Given the description of an element on the screen output the (x, y) to click on. 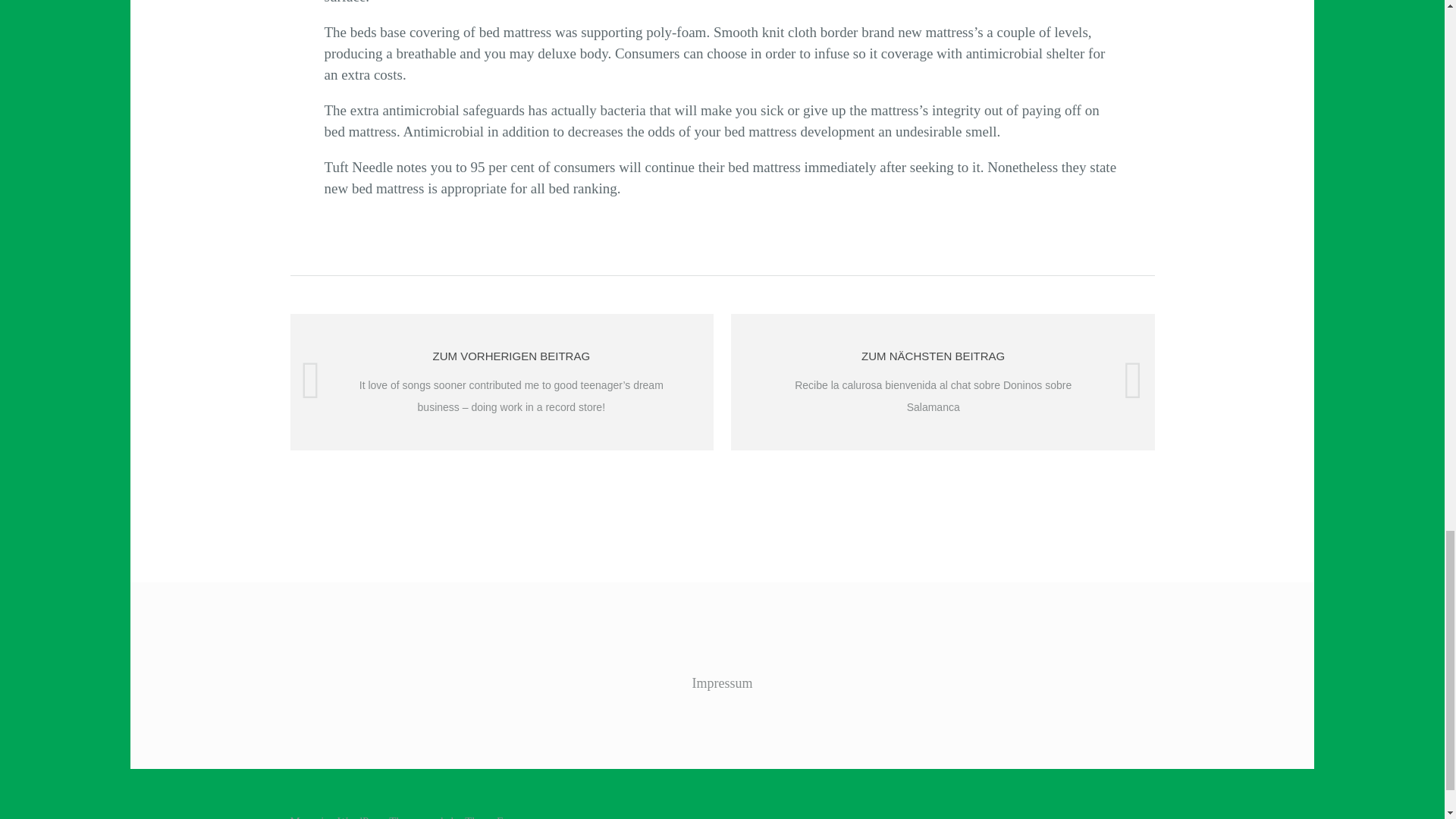
ThemeFuse (491, 816)
Impressum (721, 683)
